Given the description of an element on the screen output the (x, y) to click on. 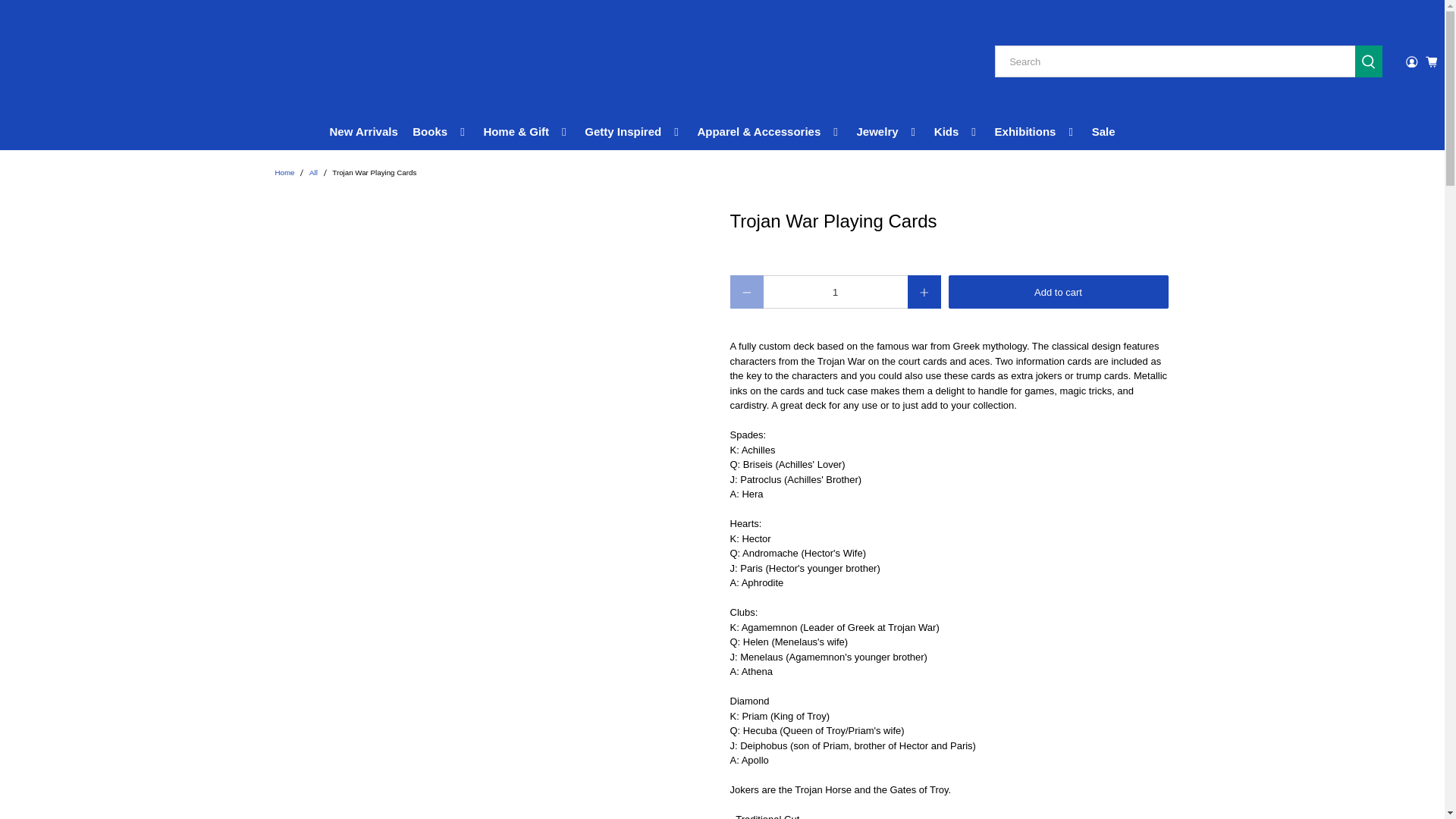
Getty Inspired (634, 131)
Getty Museum Store (284, 172)
Getty Museum Store (82, 61)
New Arrivals (363, 131)
1 (834, 291)
Books (441, 131)
